Given the description of an element on the screen output the (x, y) to click on. 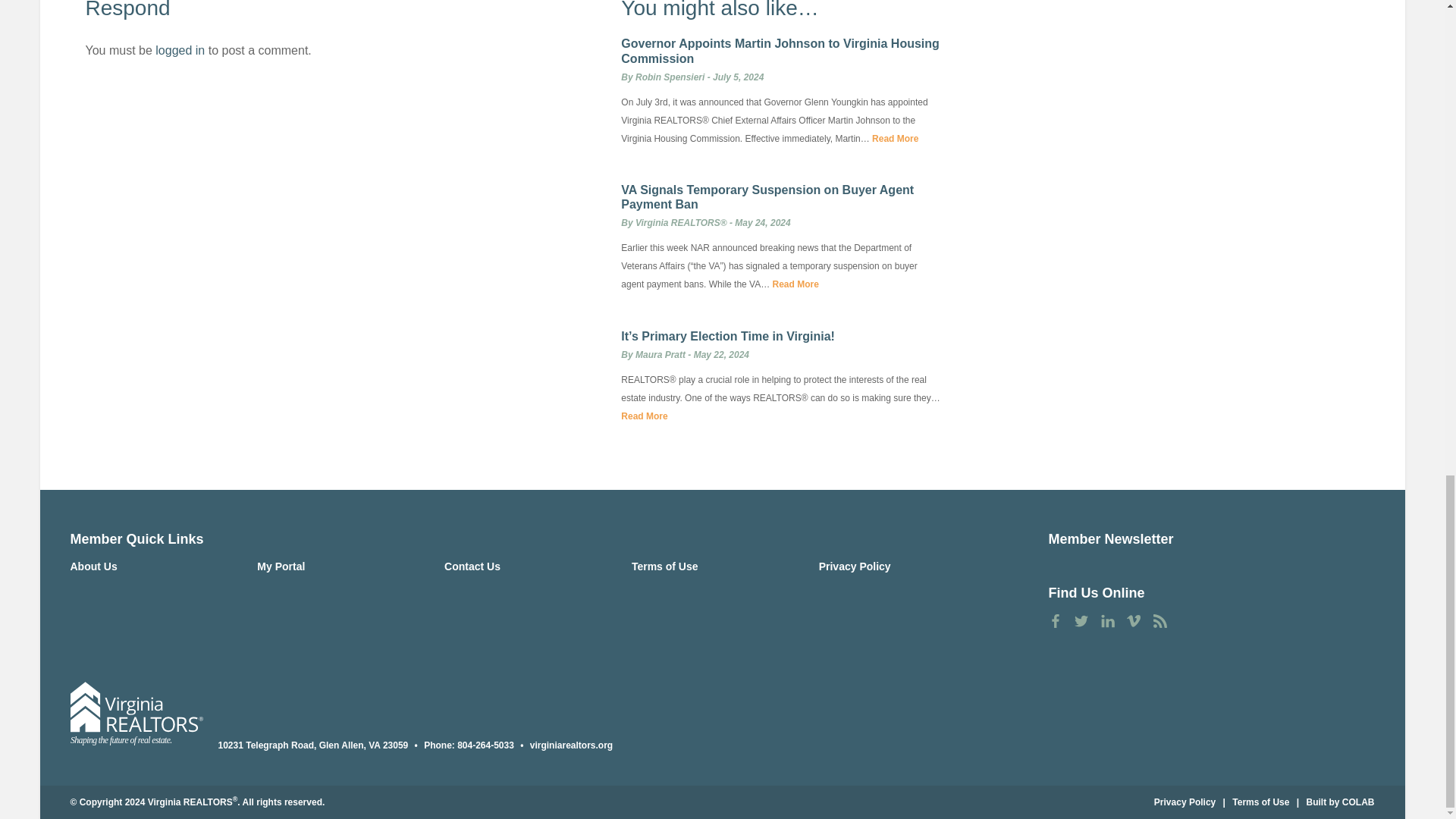
Shaping the future of real estate. (135, 714)
